Given the description of an element on the screen output the (x, y) to click on. 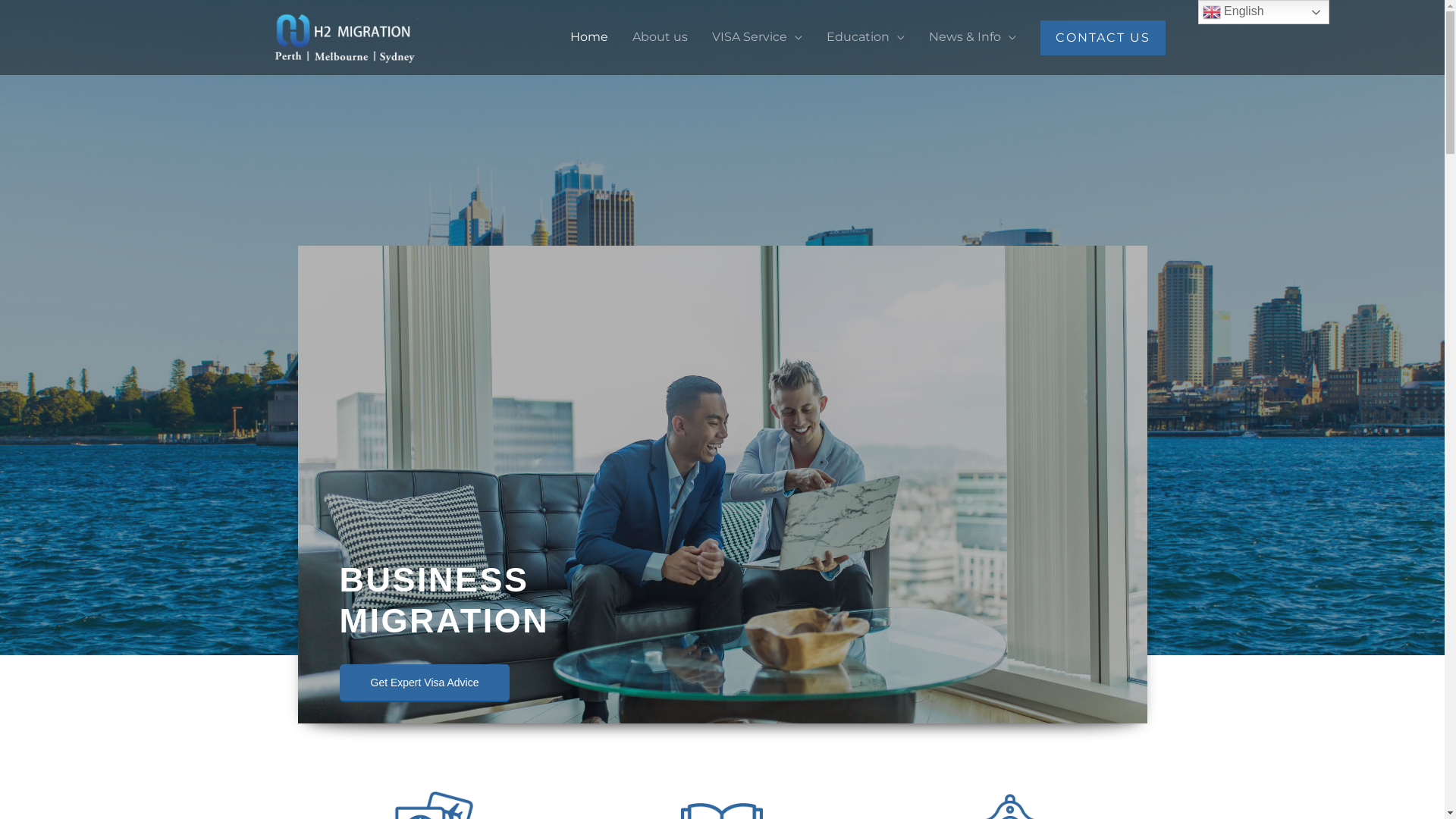
Education Element type: text (865, 36)
About us Element type: text (659, 36)
VISA Service Element type: text (756, 36)
English Element type: text (1263, 12)
Home Element type: text (589, 36)
News & Info Element type: text (971, 36)
CONTACT US Element type: text (1102, 37)
Get Expert Visa Advice Element type: text (424, 682)
